Given the description of an element on the screen output the (x, y) to click on. 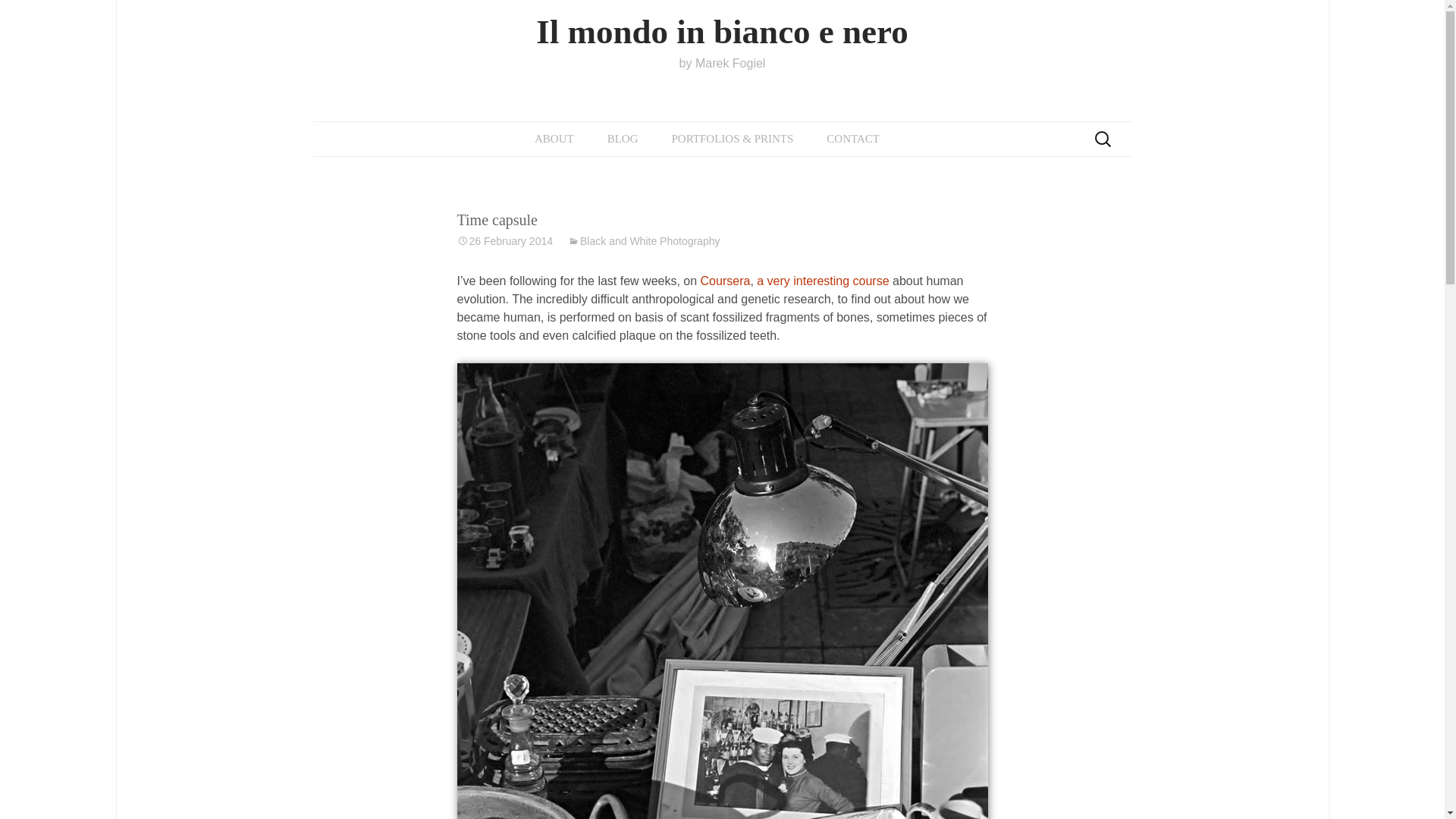
Il mondo in bianco e nero (722, 60)
Permalink to Time capsule (505, 241)
ABOUT (554, 139)
a very interesting course (824, 280)
BLOG (622, 139)
Search for: (1103, 139)
26 February 2014 (722, 60)
Skip to content (505, 241)
CONTACT (643, 241)
Search (852, 139)
Coursera (18, 15)
